Given the description of an element on the screen output the (x, y) to click on. 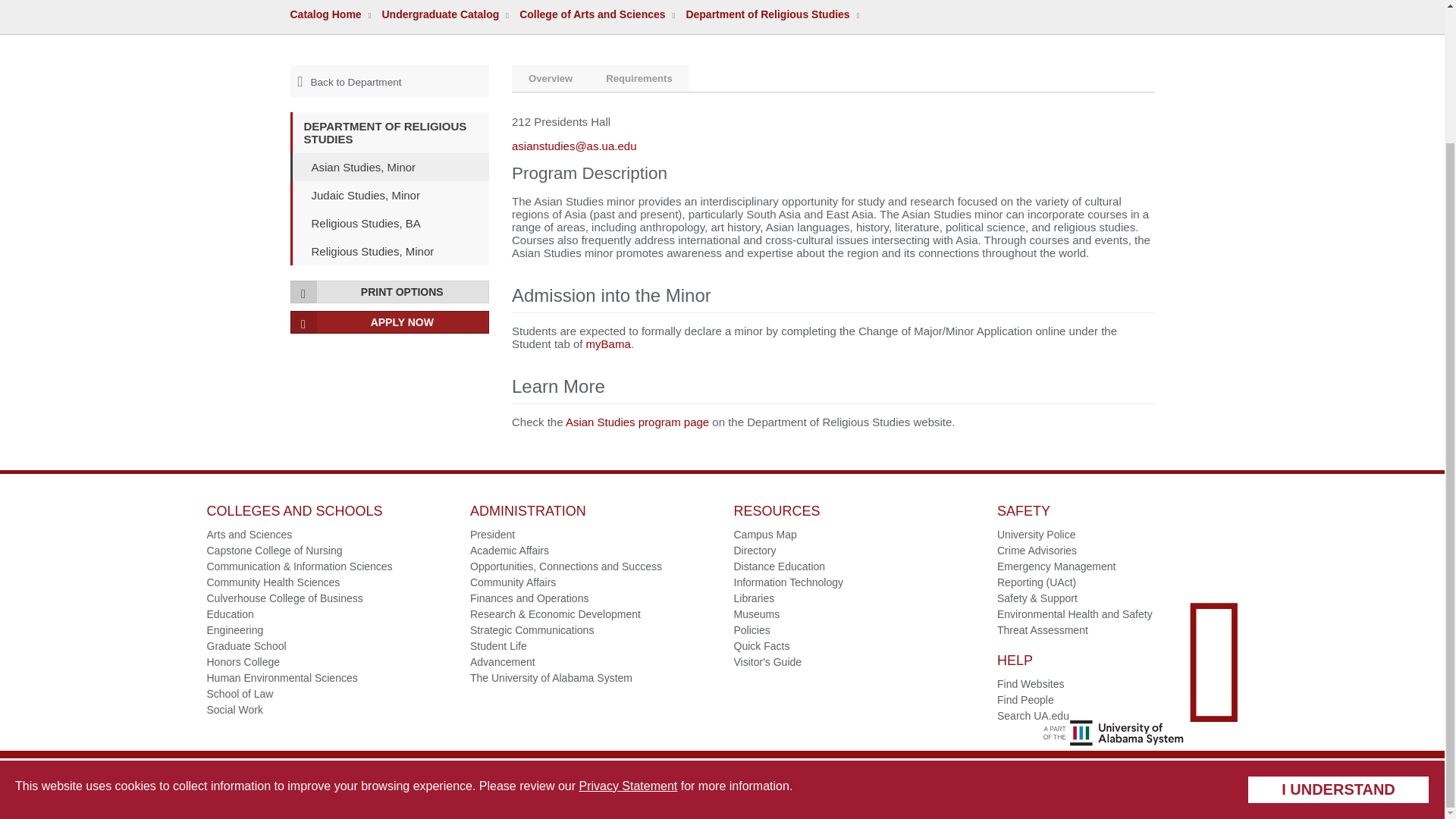
Undergraduate Catalog (440, 14)
Added content (608, 343)
Added content (878, 330)
Catalog Home (325, 14)
Added content (531, 343)
College of Arts and Sciences (592, 14)
Added content (1004, 330)
